Given the description of an element on the screen output the (x, y) to click on. 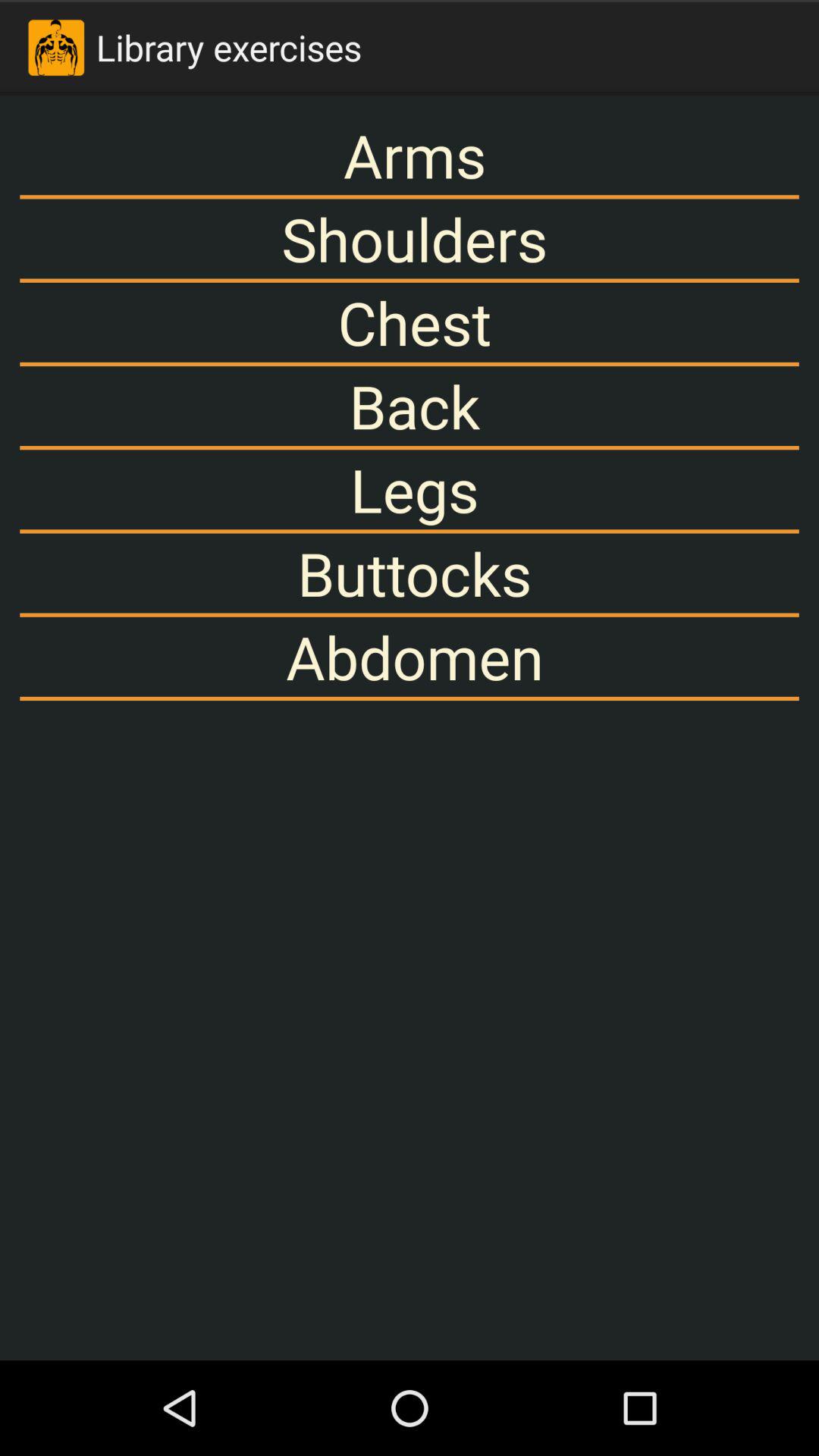
turn off item below arms (409, 238)
